Given the description of an element on the screen output the (x, y) to click on. 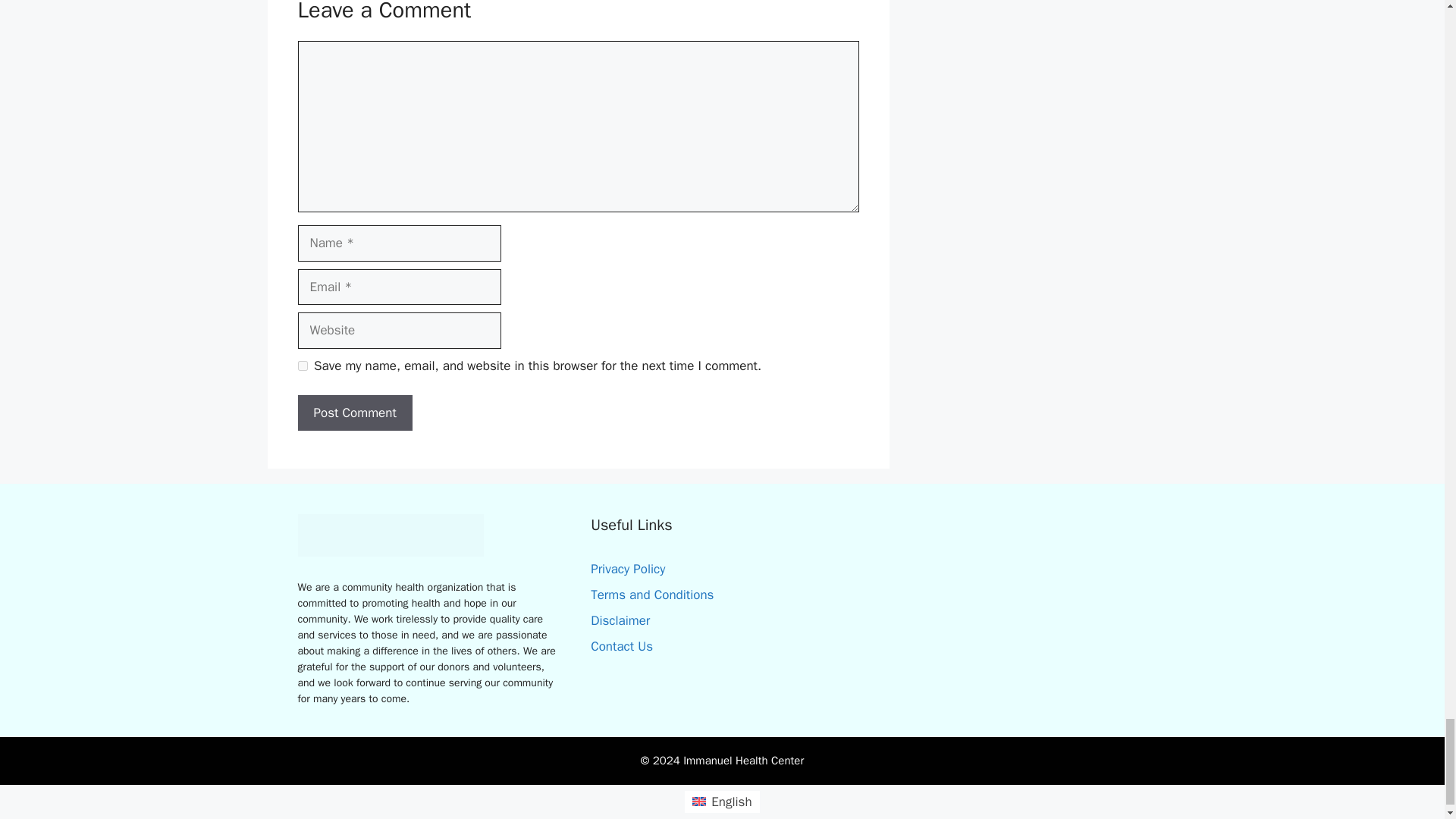
Contact Us (621, 646)
Post Comment (354, 412)
Terms and Conditions (652, 594)
Post Comment (354, 412)
Disclaimer (620, 620)
Privacy Policy (628, 569)
English (721, 802)
yes (302, 366)
